Given the description of an element on the screen output the (x, y) to click on. 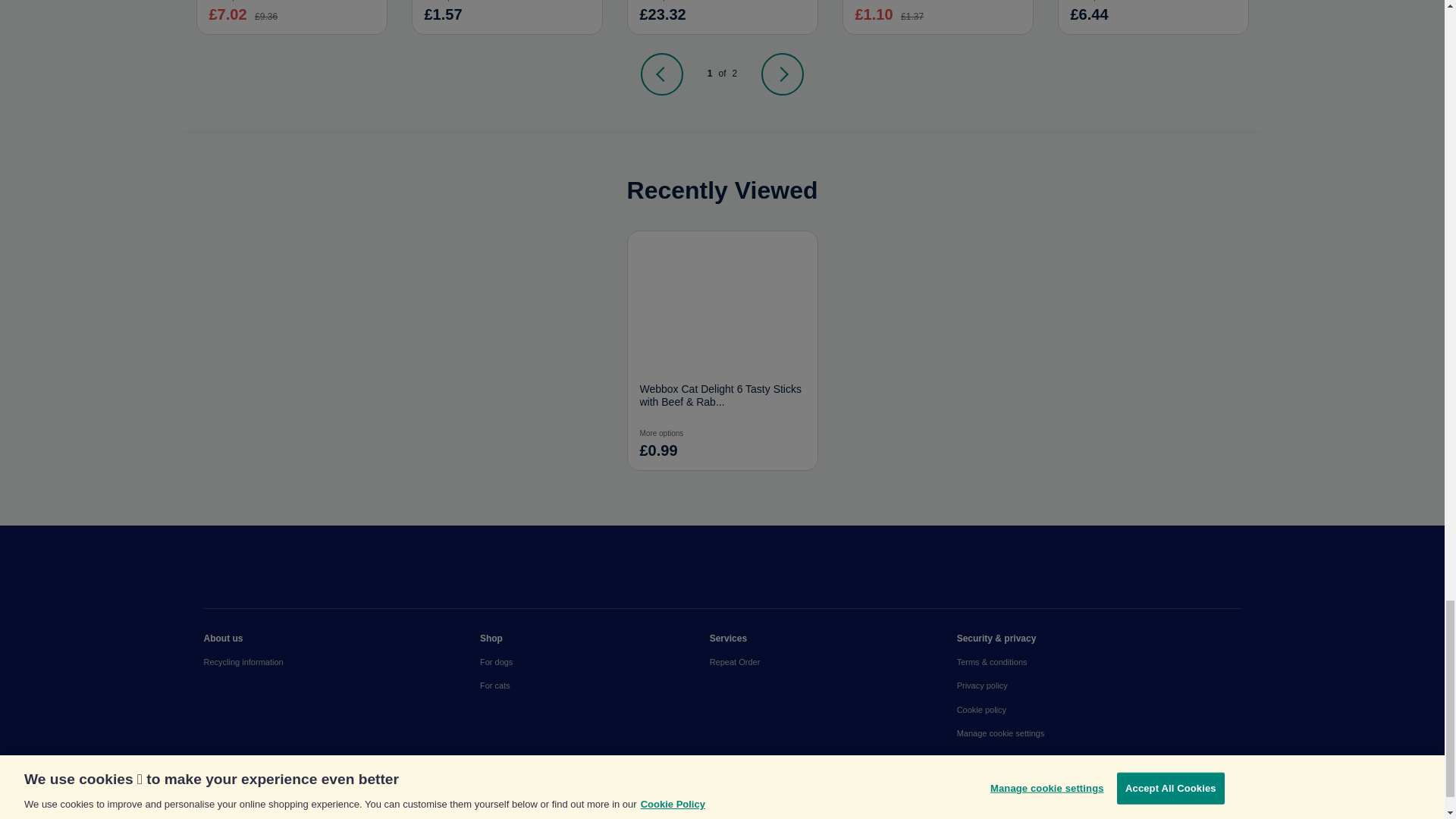
Privacy policy (1098, 685)
My cookie preferences (1098, 733)
For cats (595, 685)
For dogs (595, 662)
Repeat Order (833, 662)
Cookie policy (1098, 709)
Recycling information (341, 662)
